Given the description of an element on the screen output the (x, y) to click on. 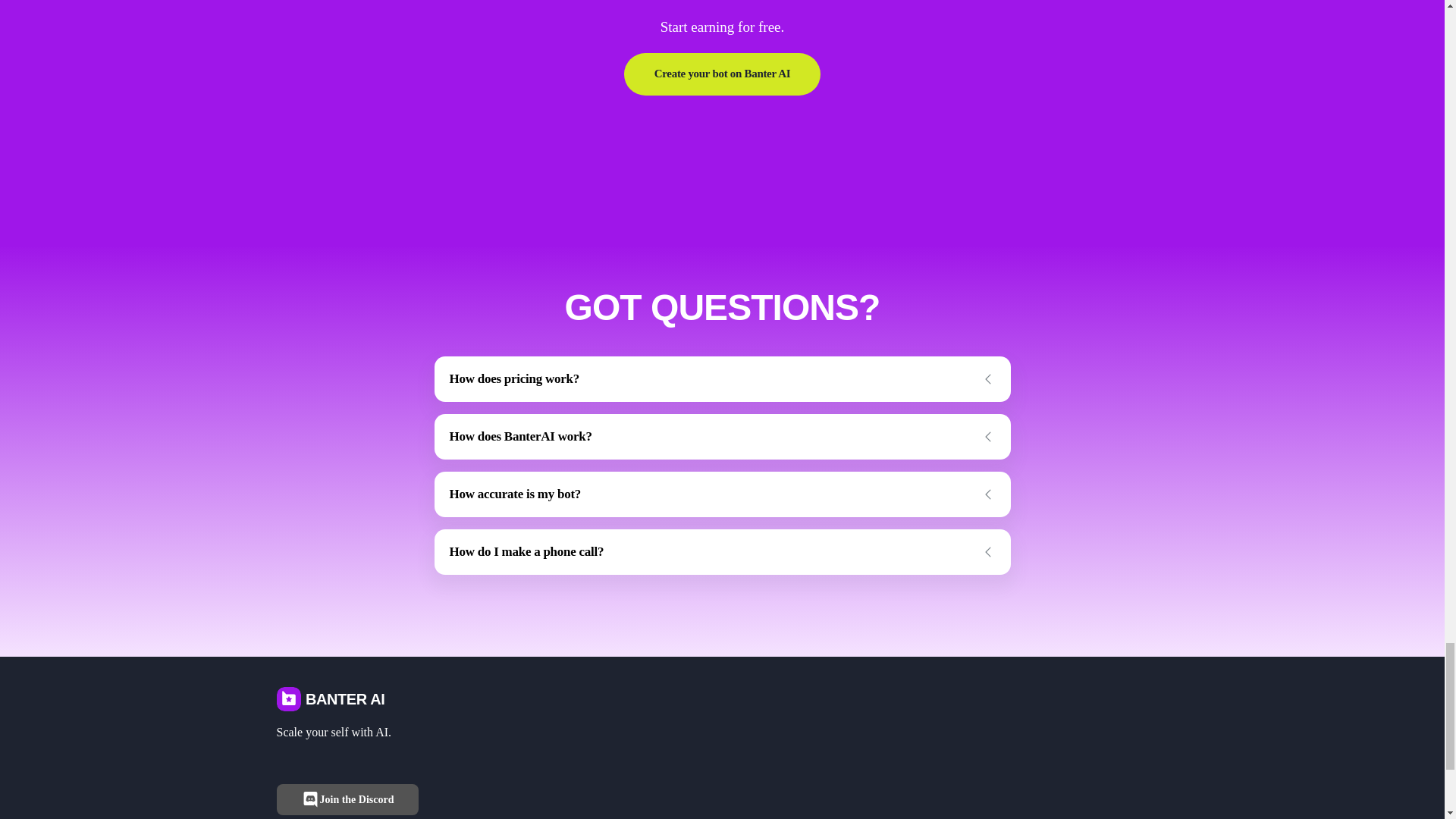
Join the Discord (346, 798)
